Given the description of an element on the screen output the (x, y) to click on. 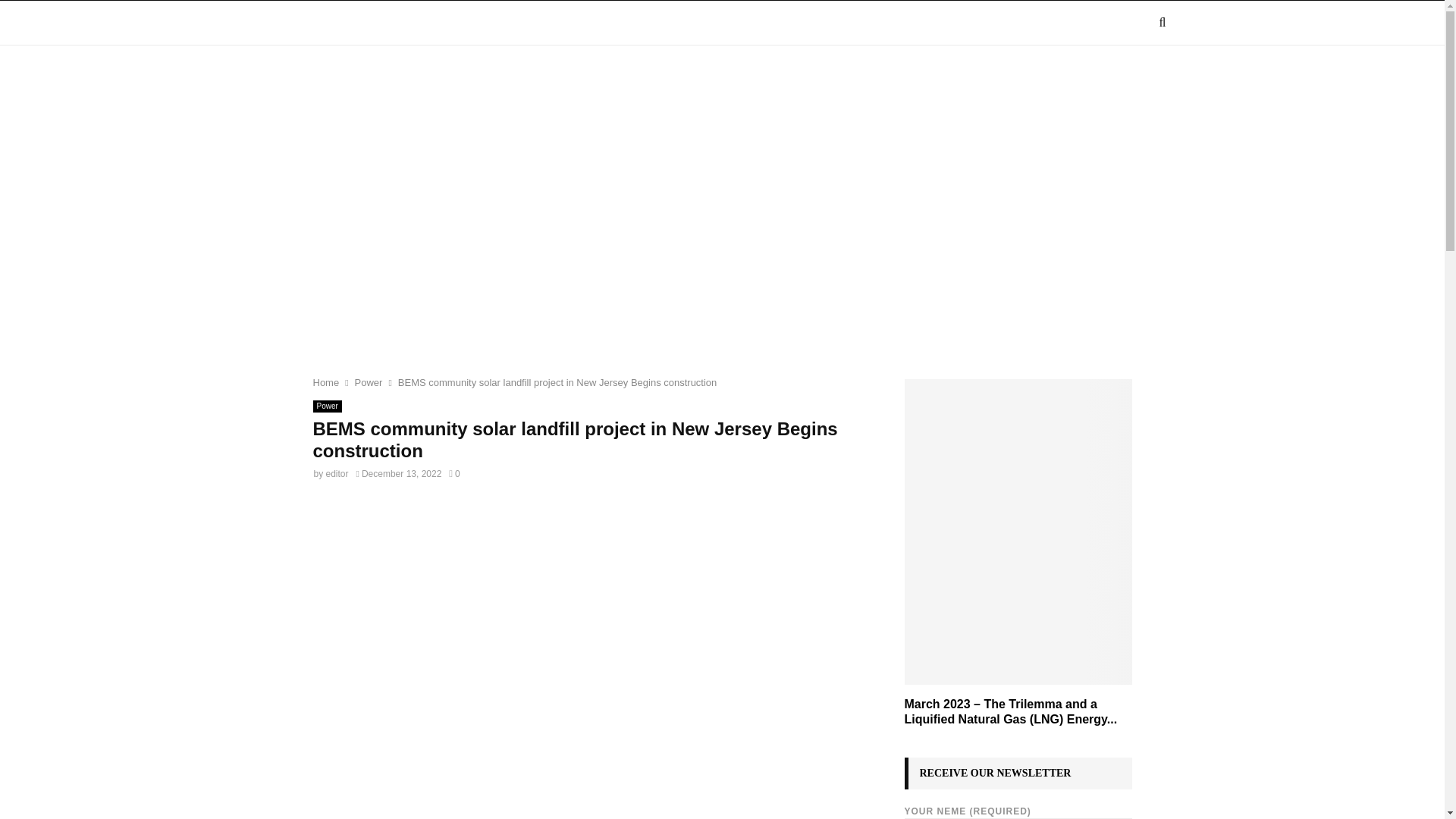
SECTORS (474, 22)
MAGAZINE (383, 22)
HOME (308, 22)
